Given the description of an element on the screen output the (x, y) to click on. 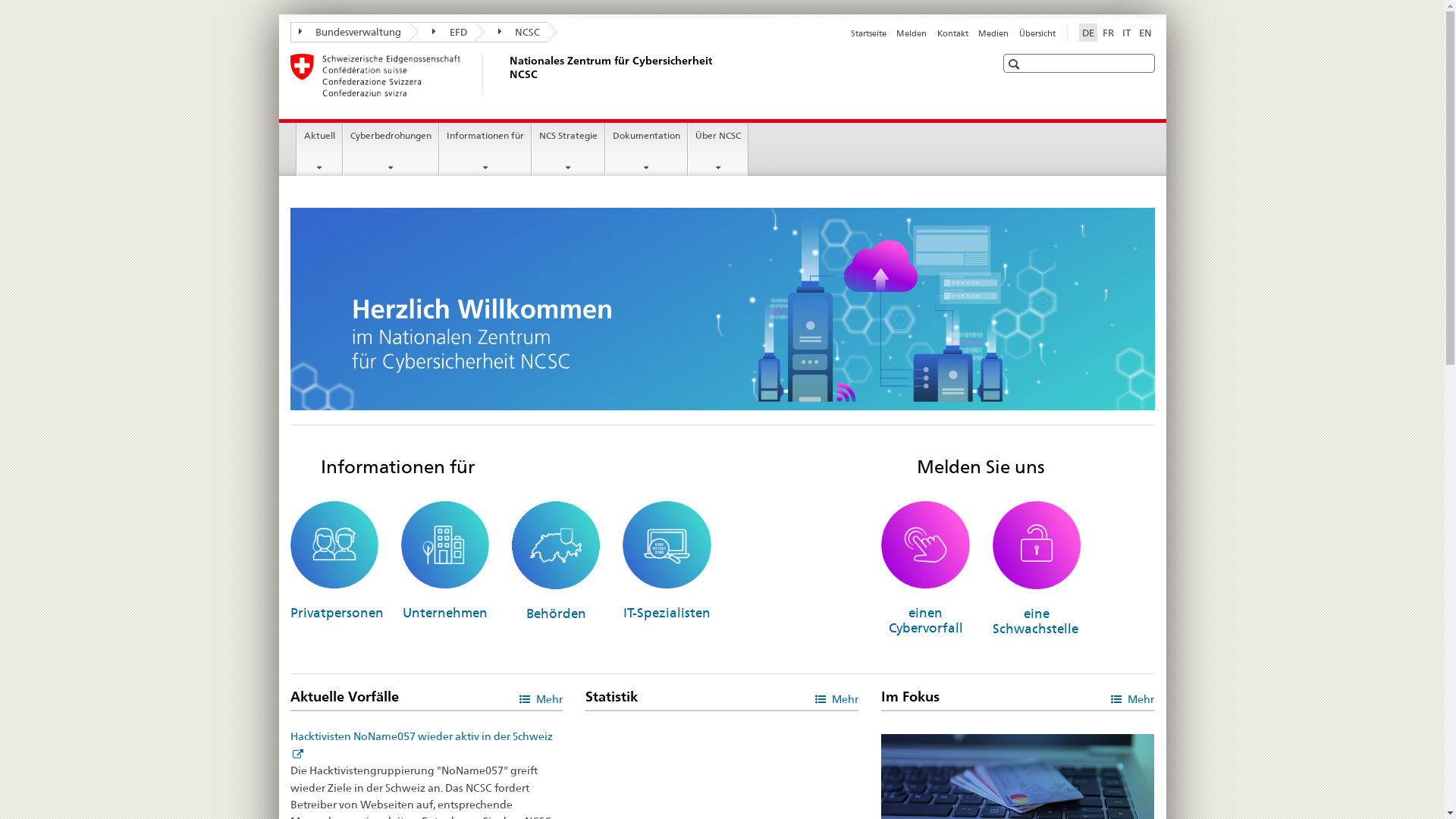
EN Element type: text (1144, 32)
FR Element type: text (1108, 32)
Mehr Element type: text (1132, 697)
DE Element type: text (1087, 32)
Bundesverwaltung Element type: text (348, 31)
IT Element type: text (1126, 32)
Mehr Element type: text (836, 697)
NCSC Element type: text (511, 31)
Mehr Element type: text (540, 697)
Privatpersonen Element type: text (335, 612)
IT-Spezialisten Element type: text (666, 612)
Hacktivisten NoName057 wieder aktiv in der Schweiz Element type: text (420, 744)
eine Schwachstelle  Element type: text (1036, 620)
Medien Element type: text (993, 33)
Dokumentation Element type: text (646, 148)
Cyberbedrohungen Element type: text (390, 148)
Melden Element type: text (911, 33)
Startseite Element type: text (868, 33)
Aktuell Element type: text (319, 148)
Kontakt Element type: text (952, 33)
einen Cybervorfall Element type: text (925, 620)
NCS Strategie Element type: text (568, 148)
EFD Element type: text (441, 31)
Unternehmen Element type: text (444, 612)
